Given the description of an element on the screen output the (x, y) to click on. 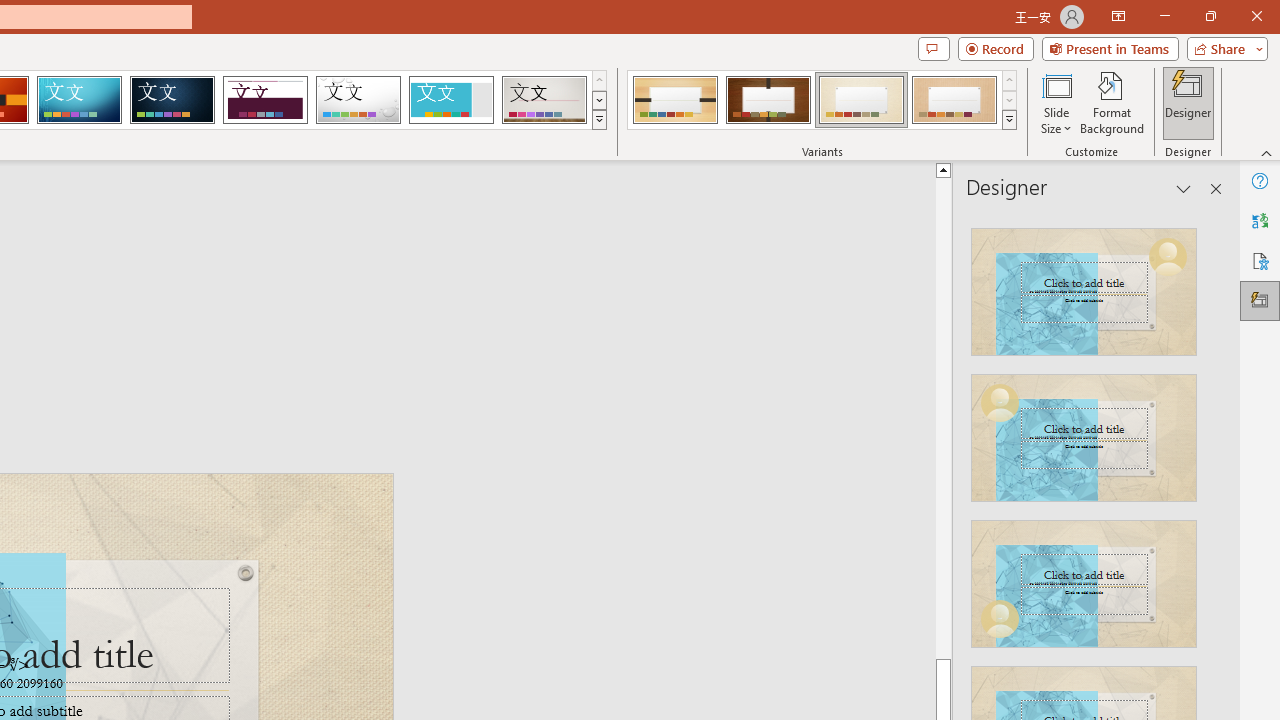
Droplet (358, 100)
Dividend (265, 100)
Organic Variant 3 (861, 100)
